Given the description of an element on the screen output the (x, y) to click on. 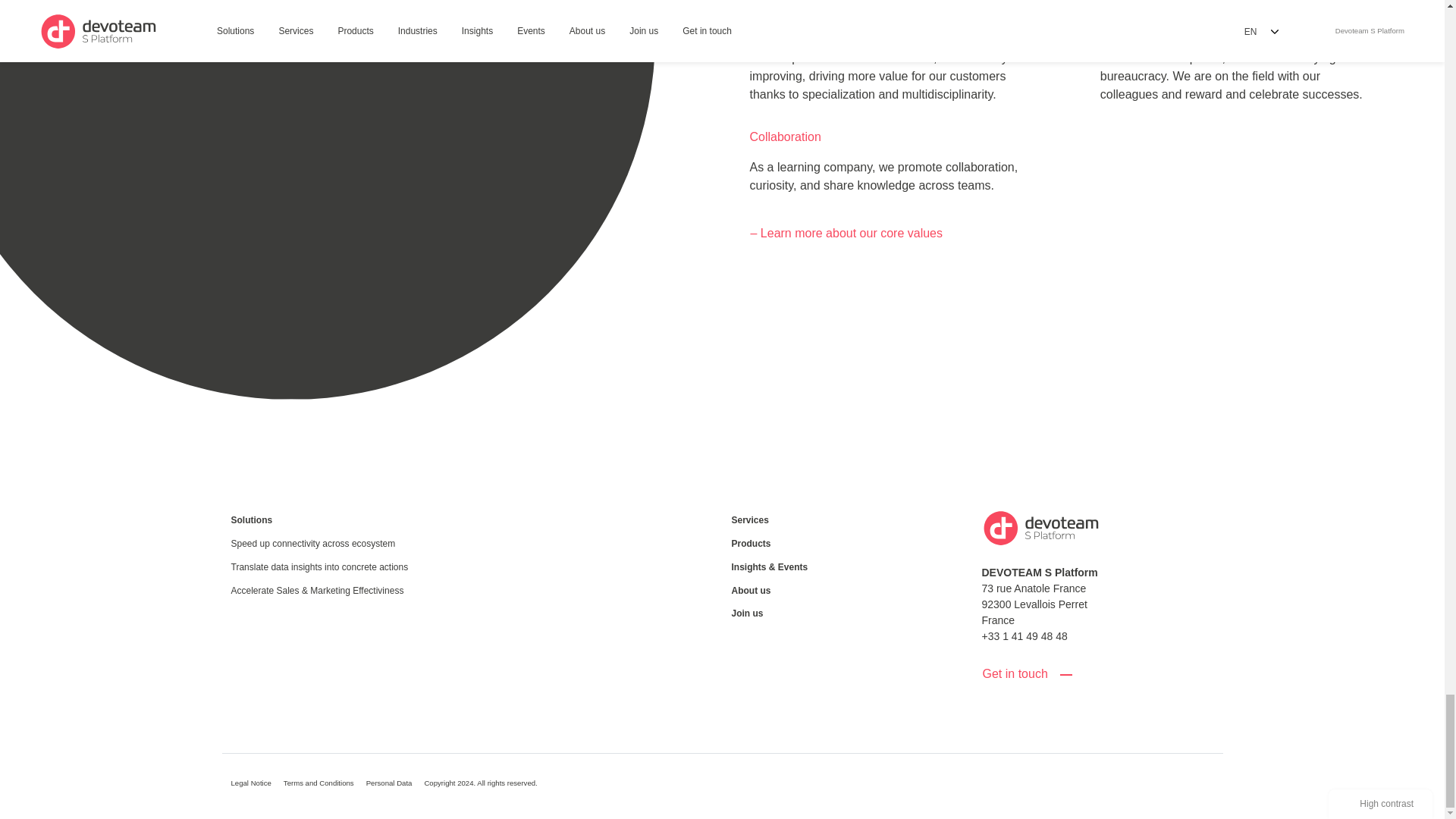
Solutions (346, 520)
